Given the description of an element on the screen output the (x, y) to click on. 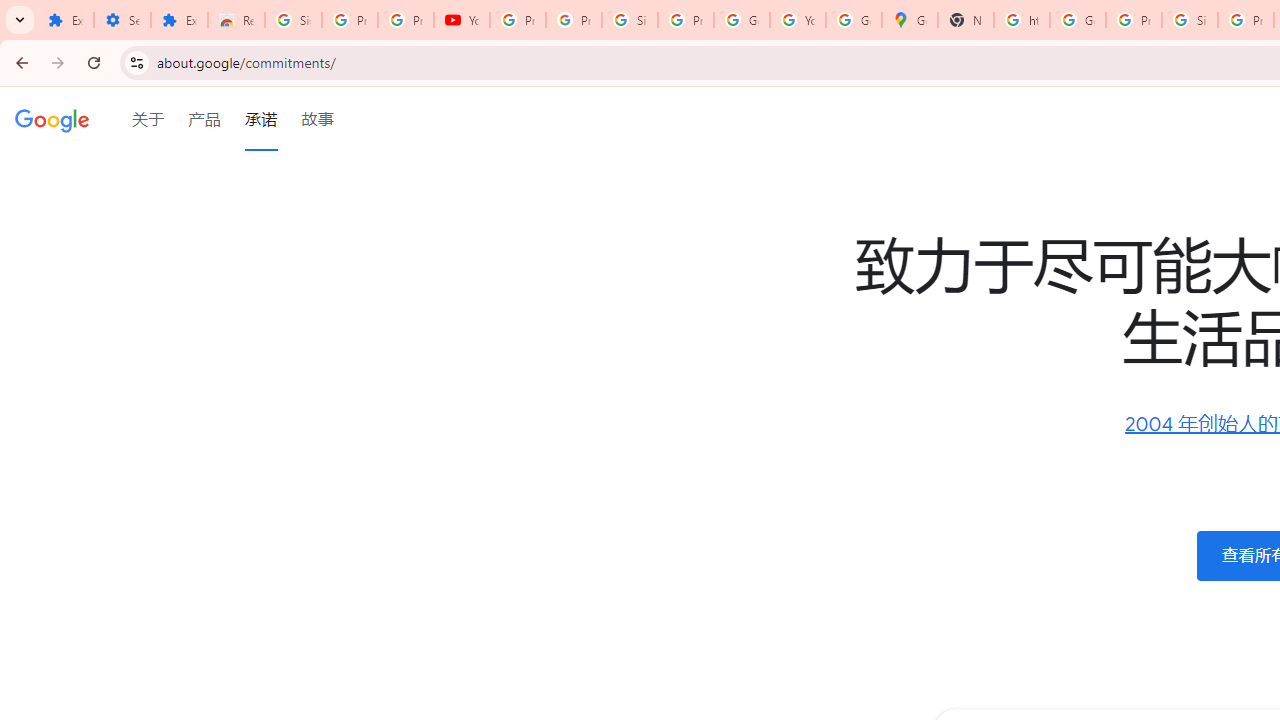
Google Maps (909, 20)
Extensions (65, 20)
YouTube (797, 20)
Sign in - Google Accounts (629, 20)
New Tab (966, 20)
